Given the description of an element on the screen output the (x, y) to click on. 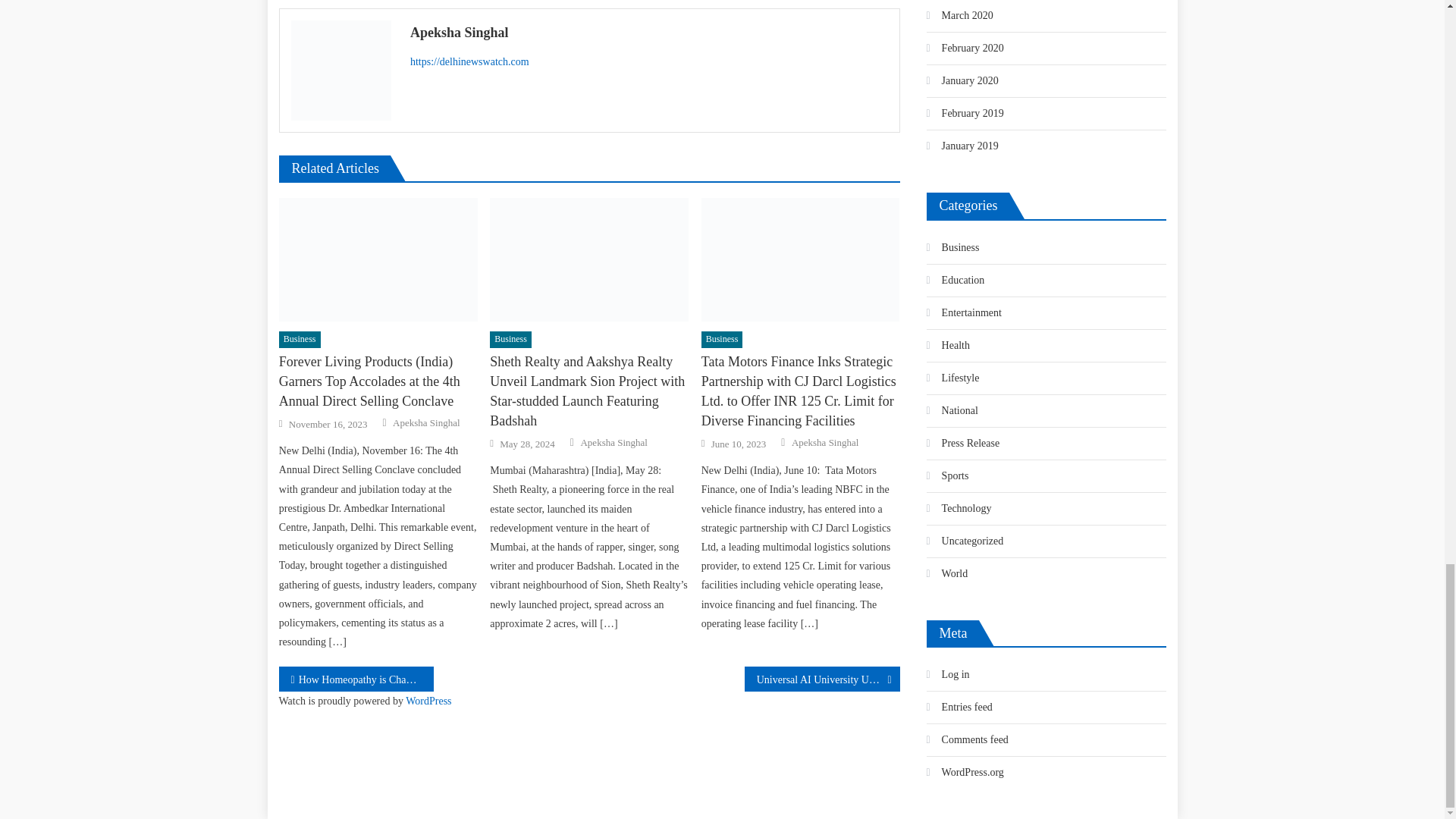
Apeksha Singhal (649, 32)
May 28, 2024 (526, 444)
Business (510, 339)
November 16, 2023 (328, 424)
Business (299, 339)
Apeksha Singhal (426, 422)
